Given the description of an element on the screen output the (x, y) to click on. 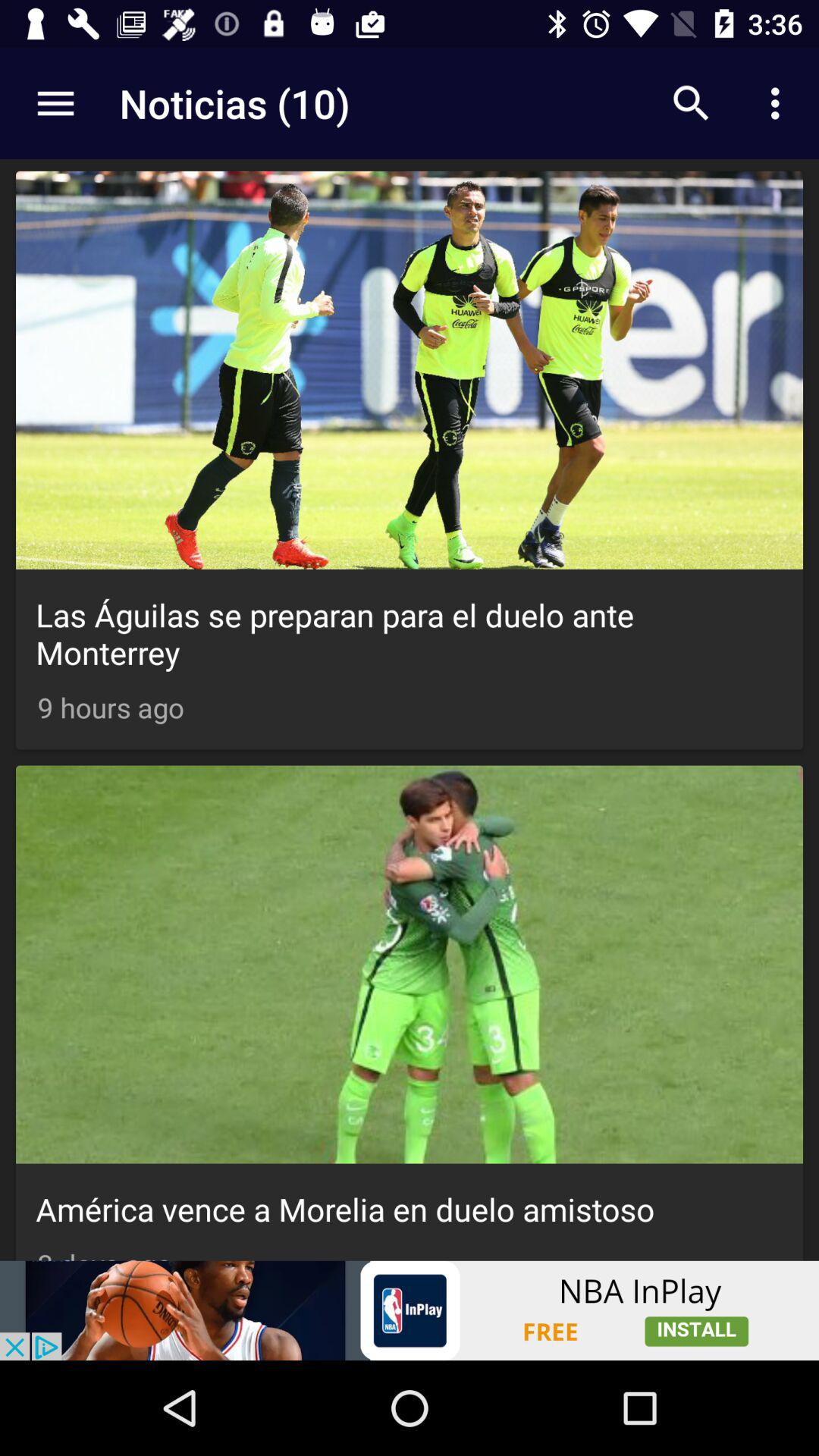
see advertisement (409, 1310)
